Given the description of an element on the screen output the (x, y) to click on. 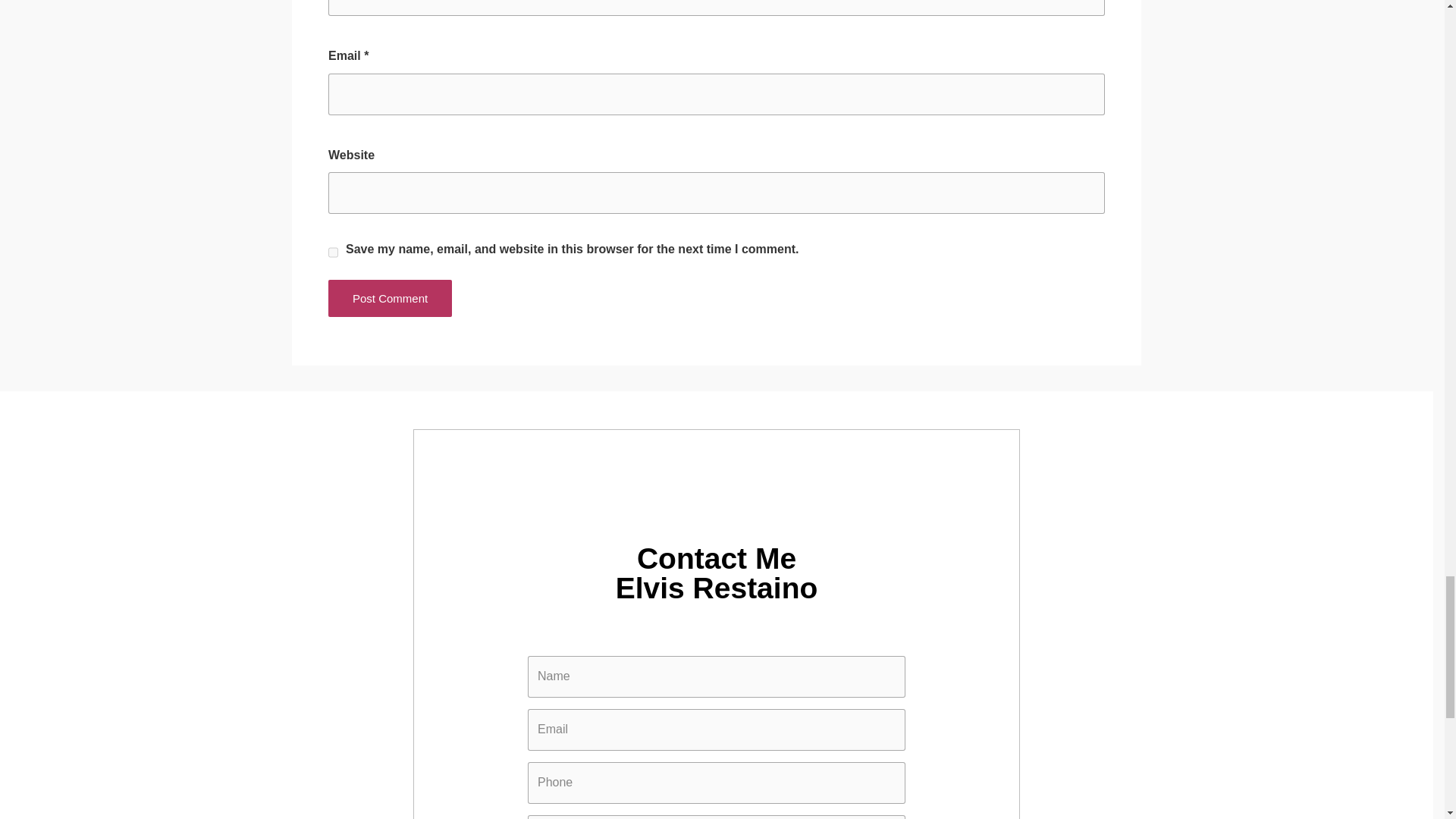
Post Comment (390, 298)
Post Comment (390, 298)
